Given the description of an element on the screen output the (x, y) to click on. 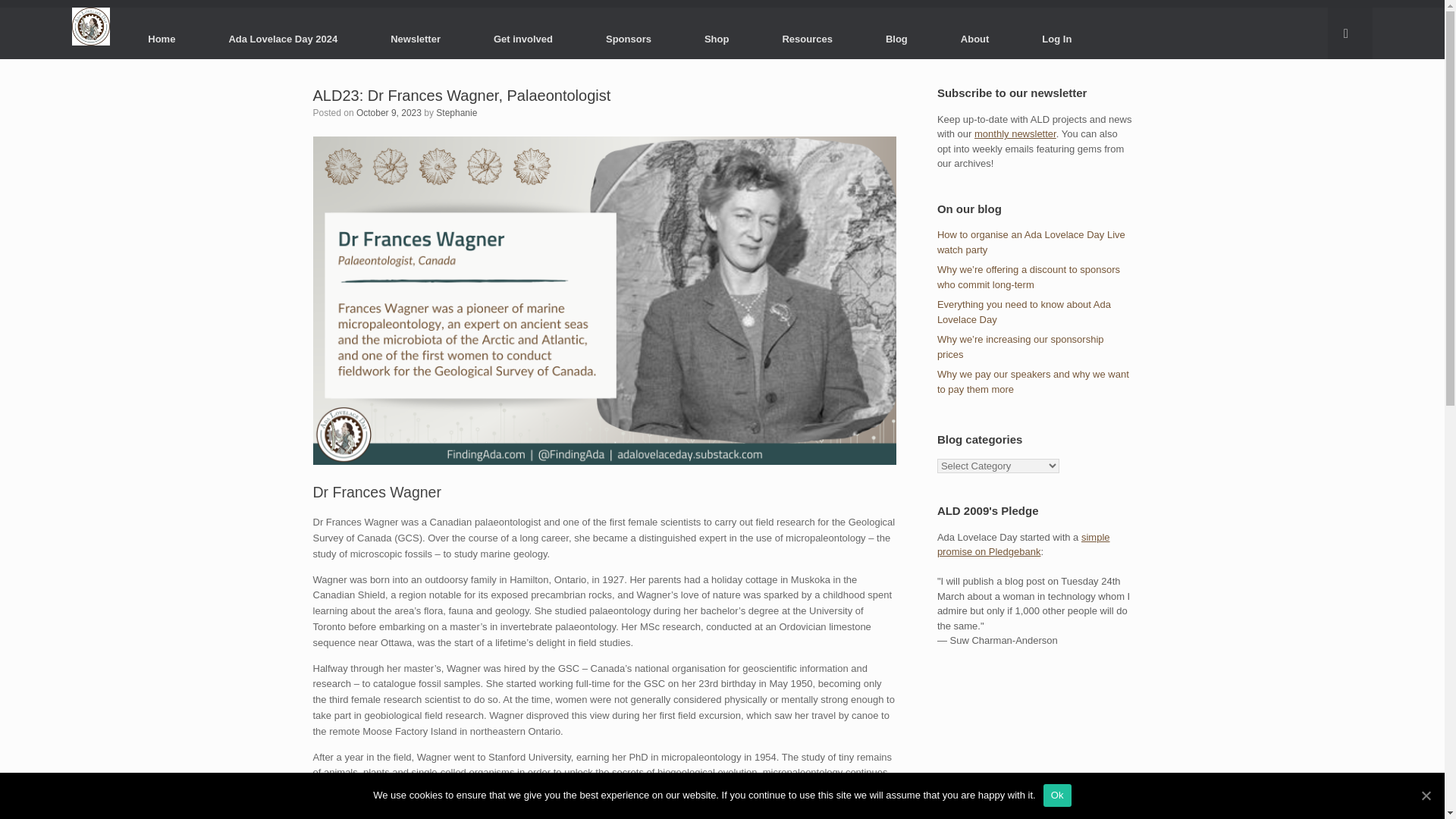
Ada Lovelace Day (90, 26)
View all posts by Stephanie (456, 112)
Home (161, 38)
Ada Lovelace Day 2024 (283, 38)
11:30 am (389, 112)
